Given the description of an element on the screen output the (x, y) to click on. 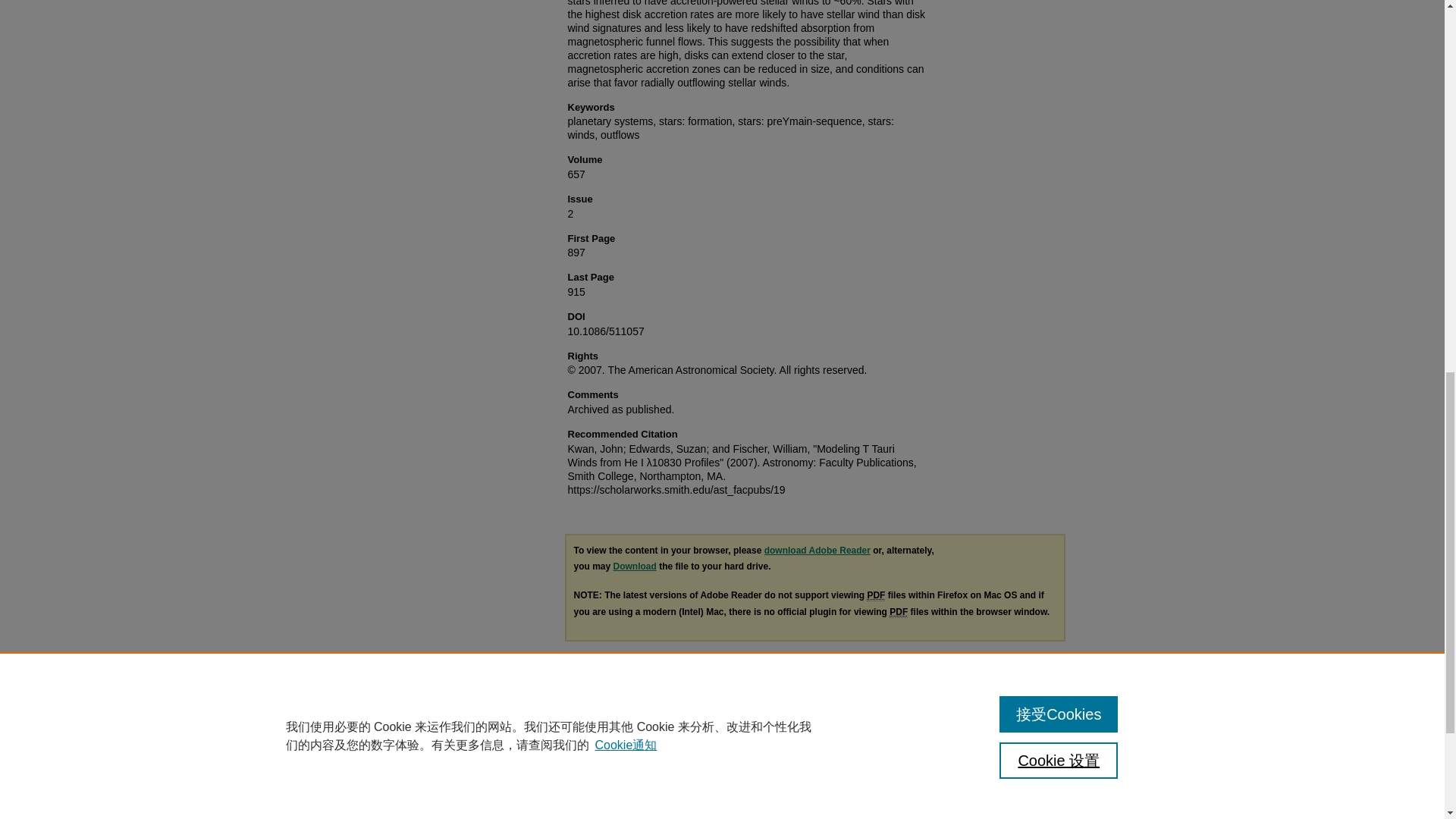
download Adobe Reader (817, 550)
Portable Document Format (898, 612)
Download (634, 566)
Portable Document Format (875, 595)
Adobe - Adobe Reader download (817, 550)
